Given the description of an element on the screen output the (x, y) to click on. 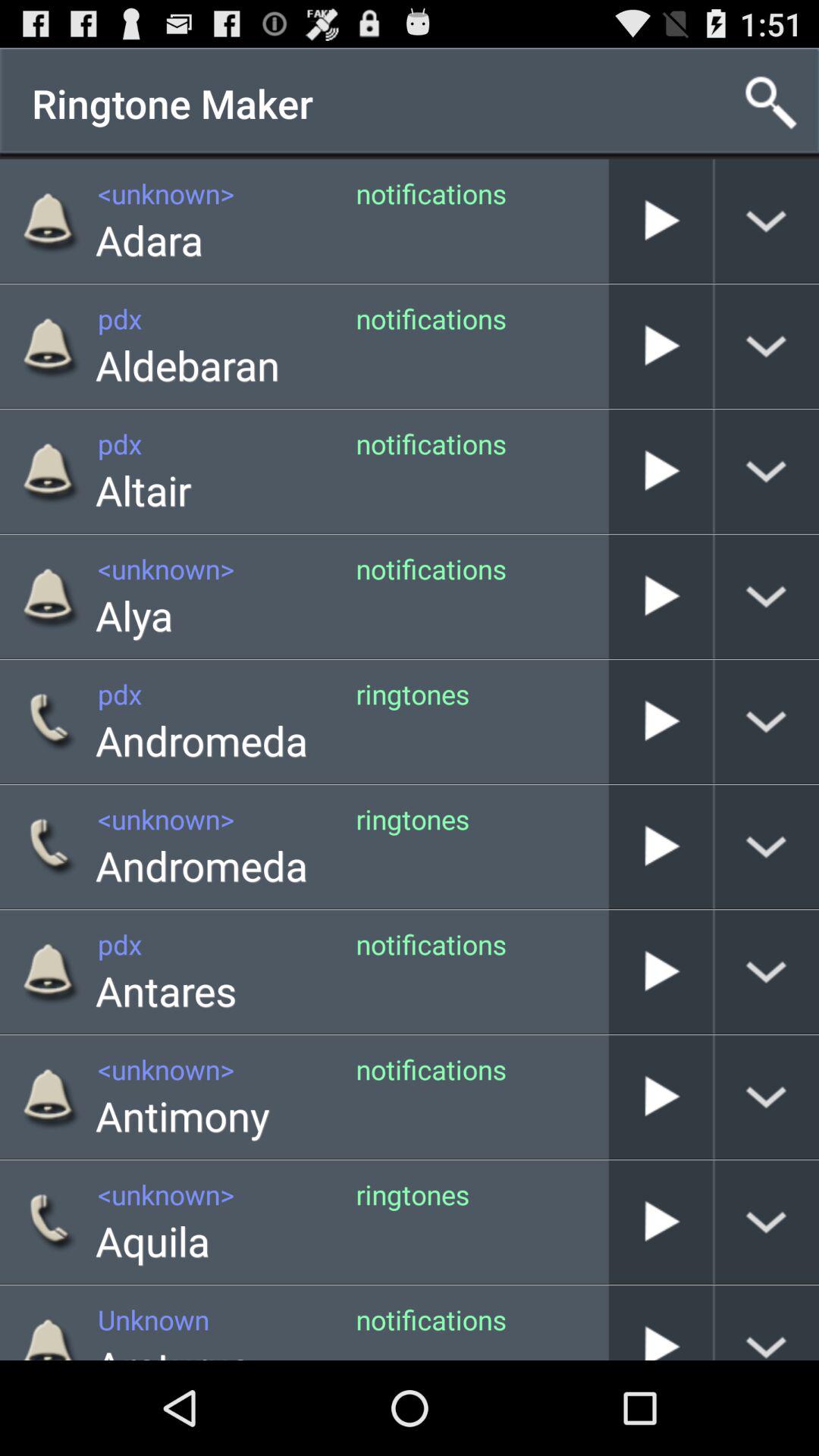
turn on the app next to ringtones app (608, 721)
